Given the description of an element on the screen output the (x, y) to click on. 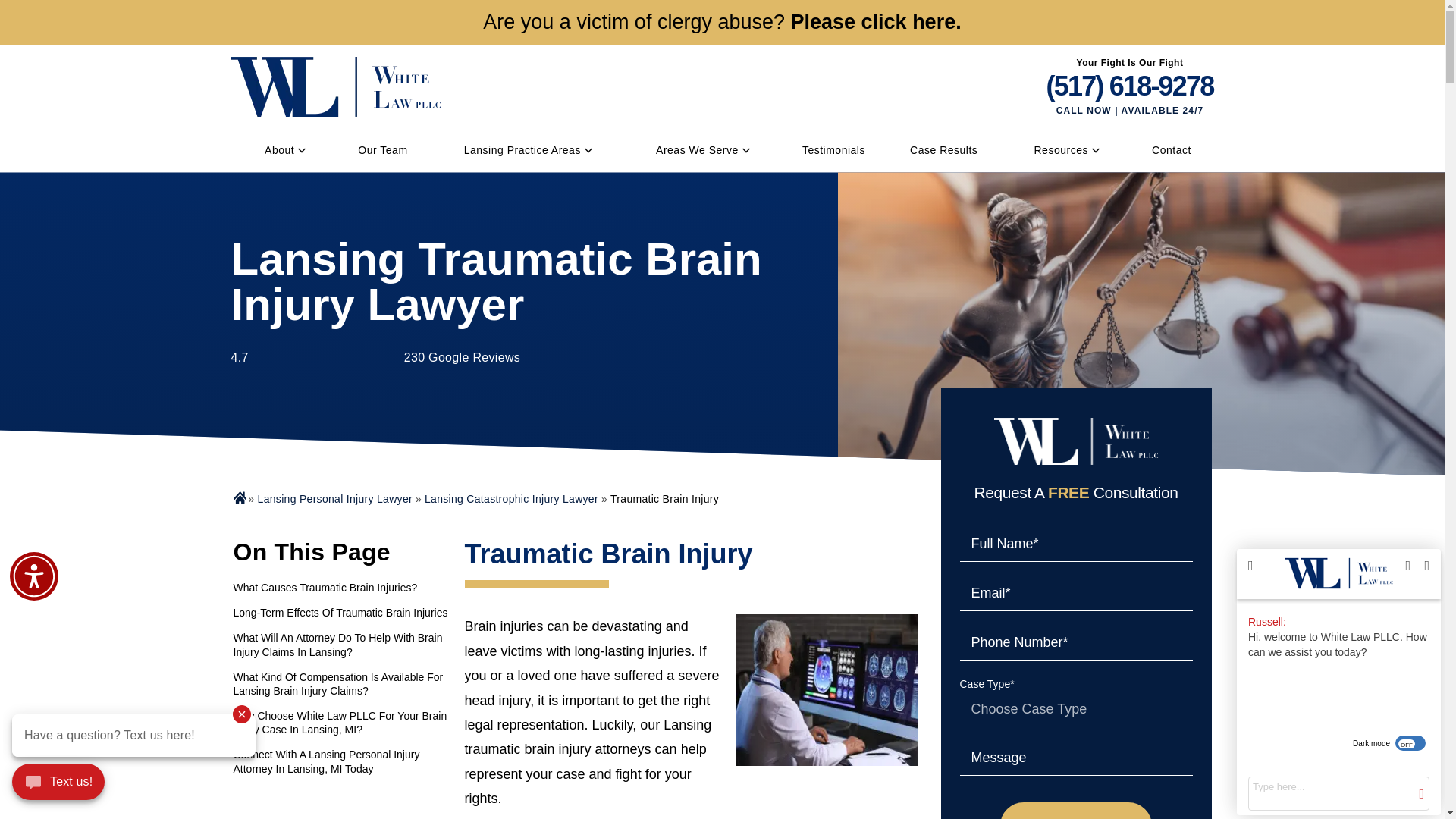
Resources (1060, 149)
Areas We Serve (697, 149)
Contact (1171, 149)
Call to White Law - PLLC (1130, 86)
What Causes Traumatic Brain Injuries? (342, 587)
Our Team (382, 149)
Case Results (943, 149)
Accessibility Menu (34, 576)
Send Request (1075, 810)
Testimonials (833, 149)
